Given the description of an element on the screen output the (x, y) to click on. 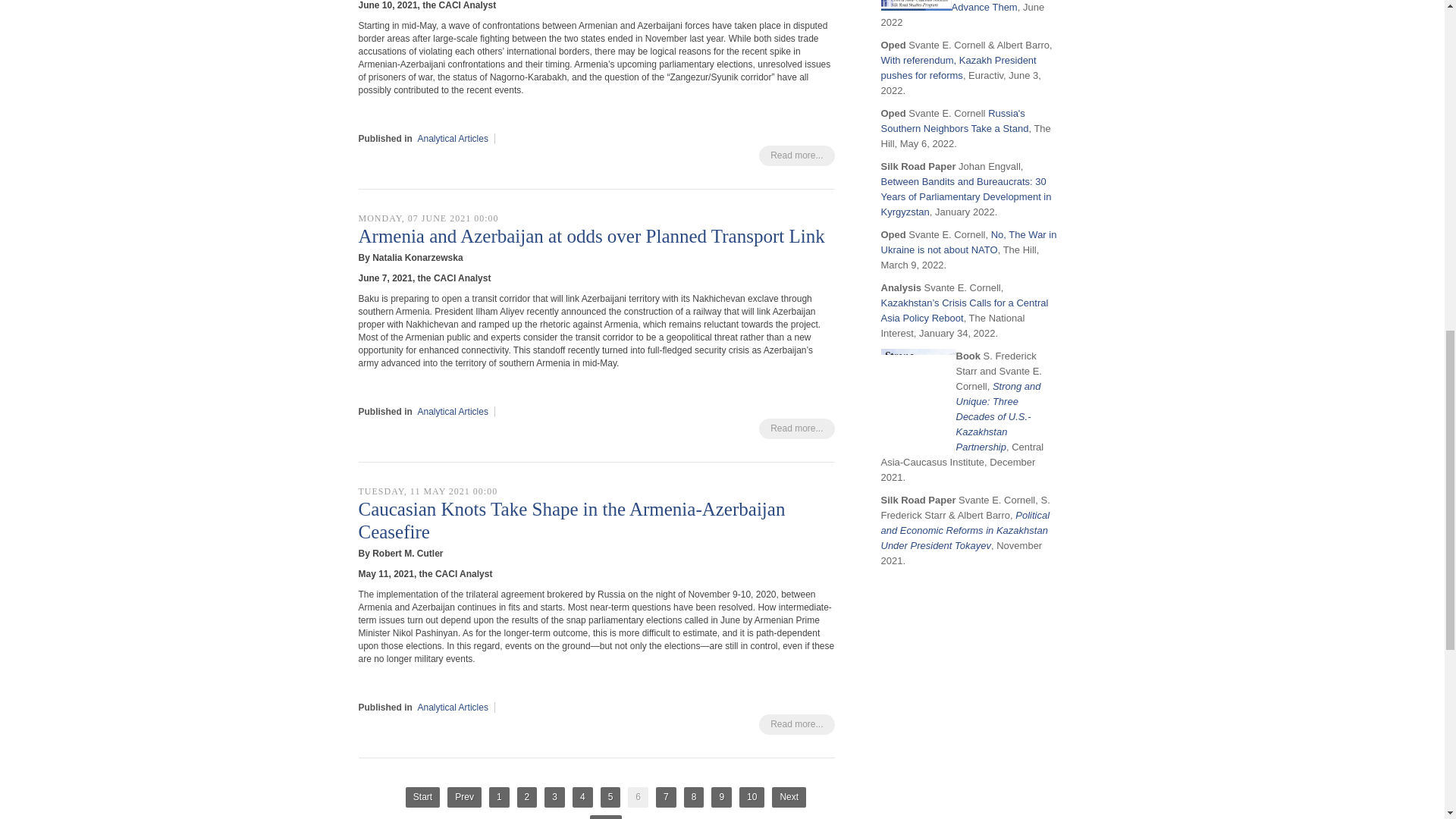
Read more... (796, 724)
Start (422, 797)
7 (666, 797)
Read more... (796, 155)
2 (526, 797)
Prev (463, 797)
Analytical Articles (452, 138)
9 (721, 797)
6 (637, 797)
Prev (463, 797)
